Given the description of an element on the screen output the (x, y) to click on. 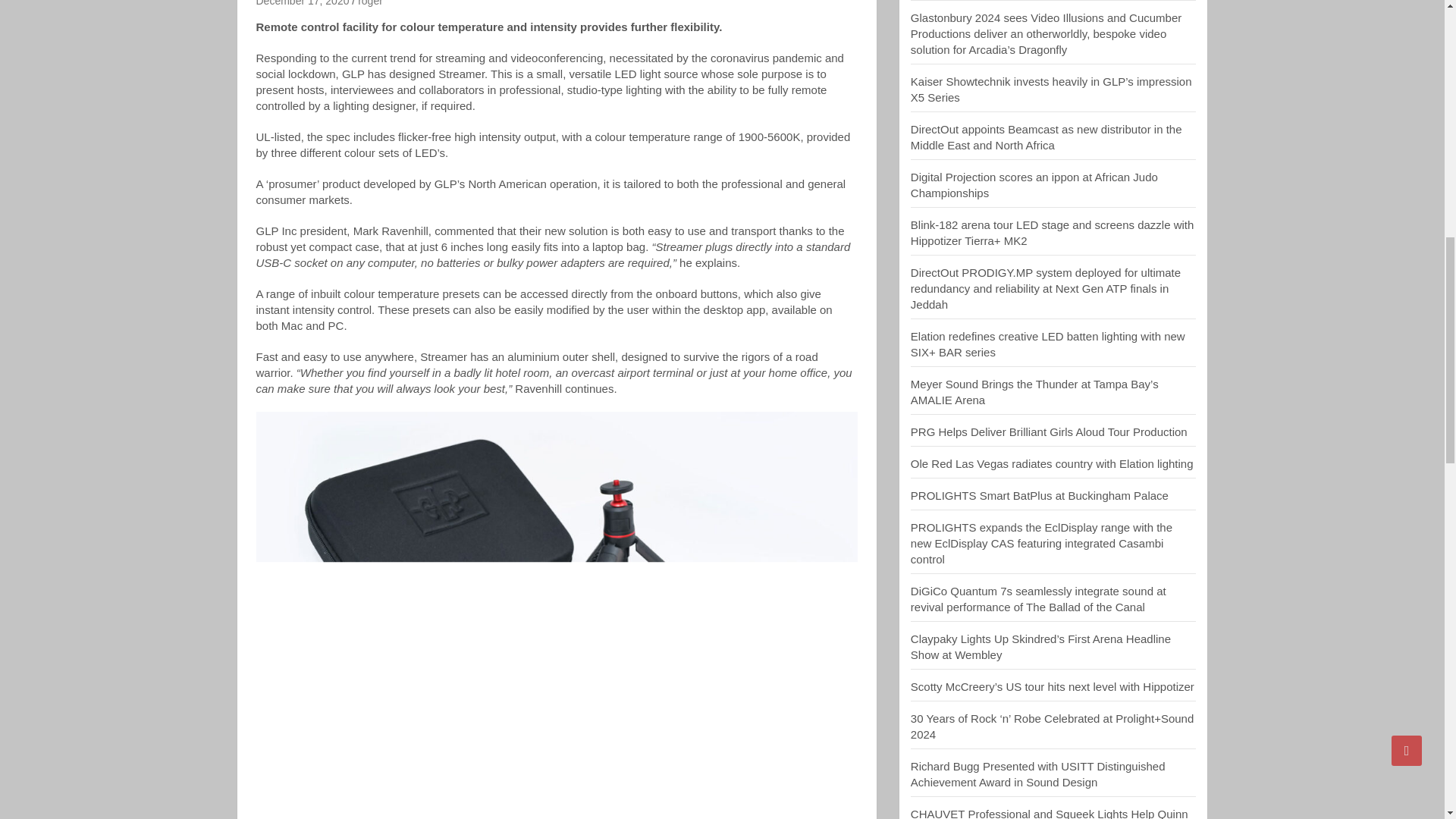
roger (370, 3)
December 17, 2020 (302, 3)
